Given the description of an element on the screen output the (x, y) to click on. 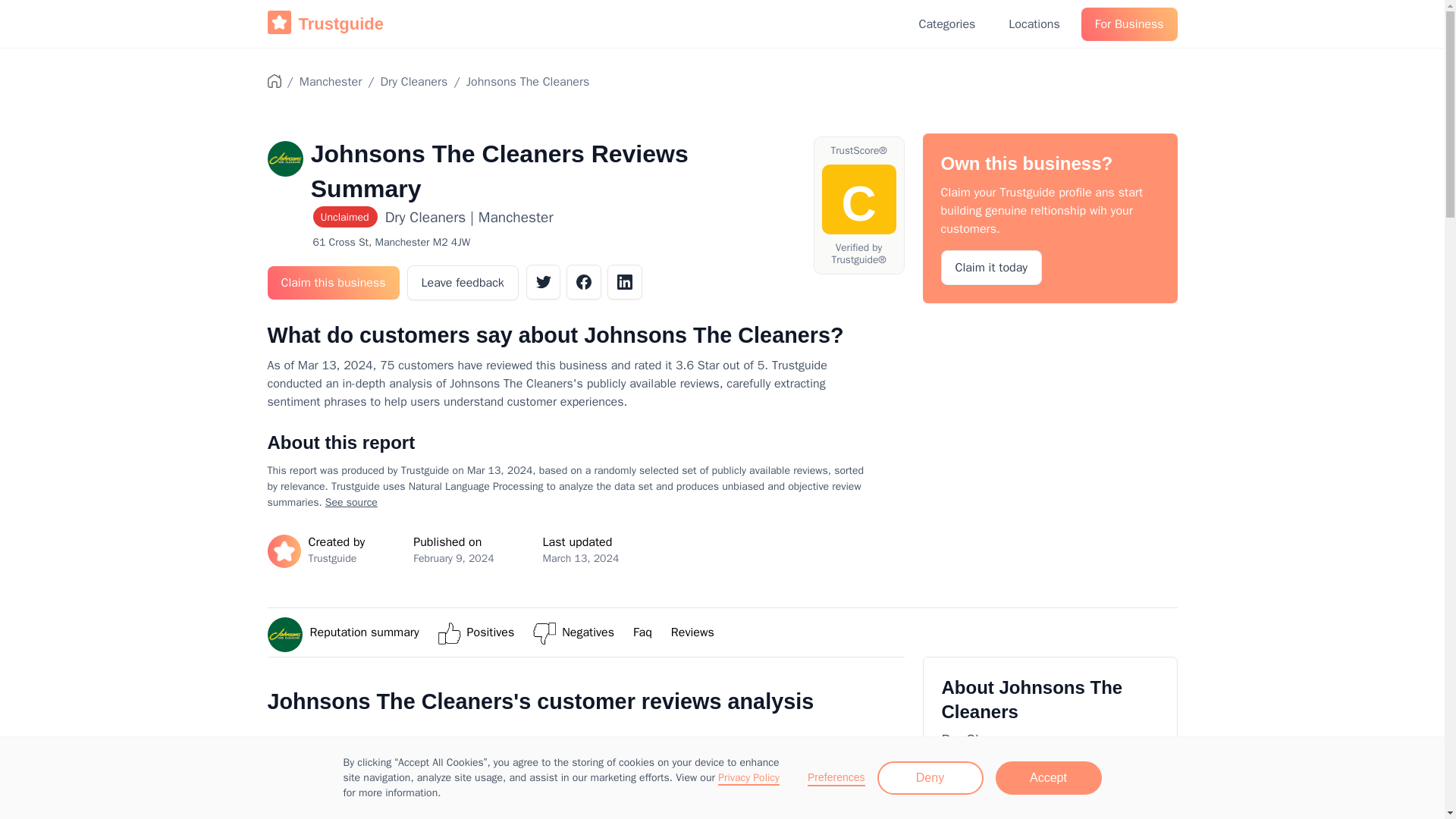
Trustguide (324, 23)
Claim it today (991, 267)
Categories (947, 23)
Reputation summary (363, 632)
Unclaimed (348, 218)
For Business (1129, 23)
Claim this business (332, 282)
Dry Cleaners (414, 81)
Locations (1033, 23)
Negatives (588, 632)
Positives (491, 632)
Reviews (692, 632)
See source (350, 502)
Leave feedback (462, 282)
